Given the description of an element on the screen output the (x, y) to click on. 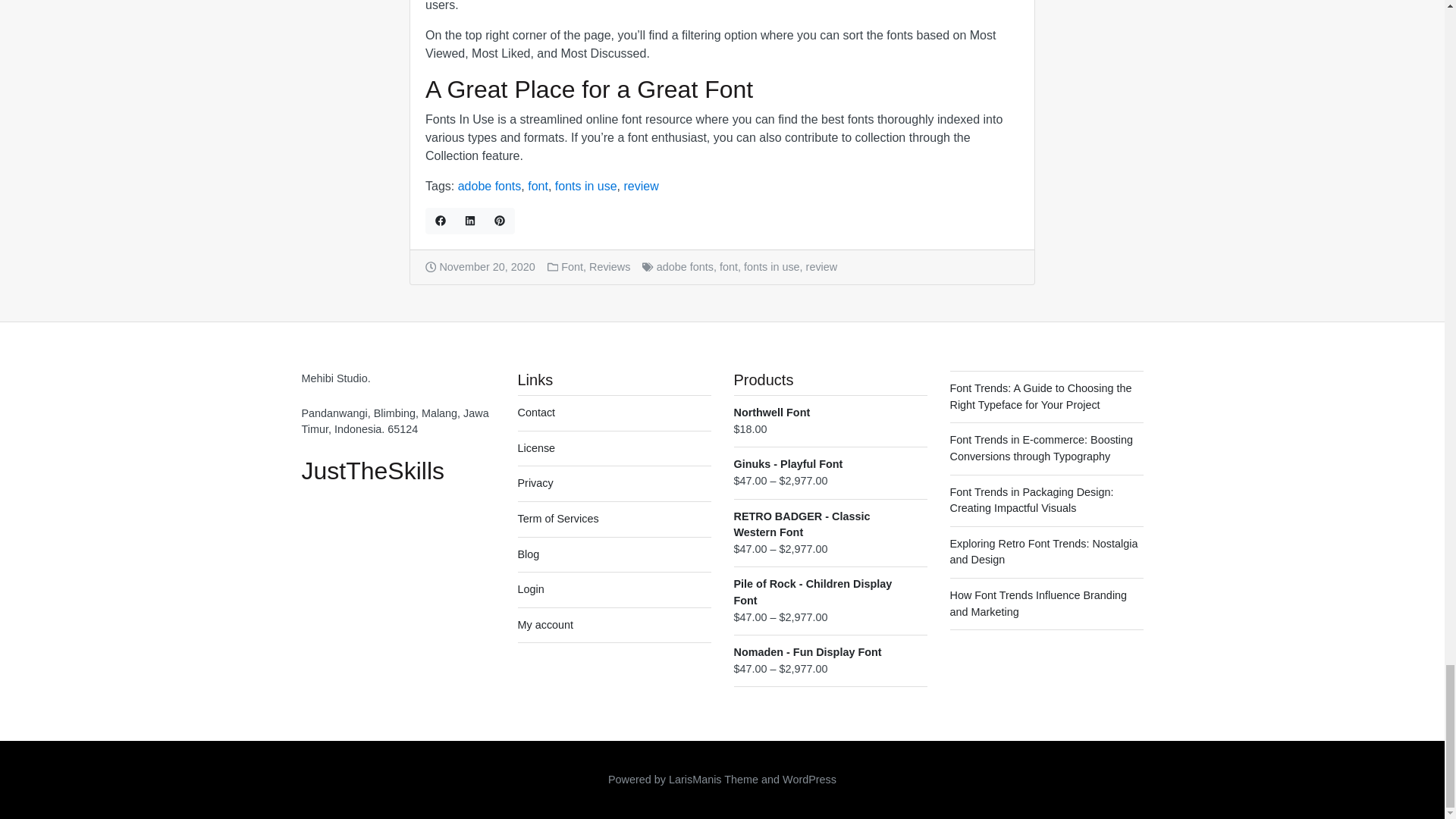
adobe fonts (489, 185)
review (640, 185)
fonts in use (585, 185)
font (537, 185)
